Given the description of an element on the screen output the (x, y) to click on. 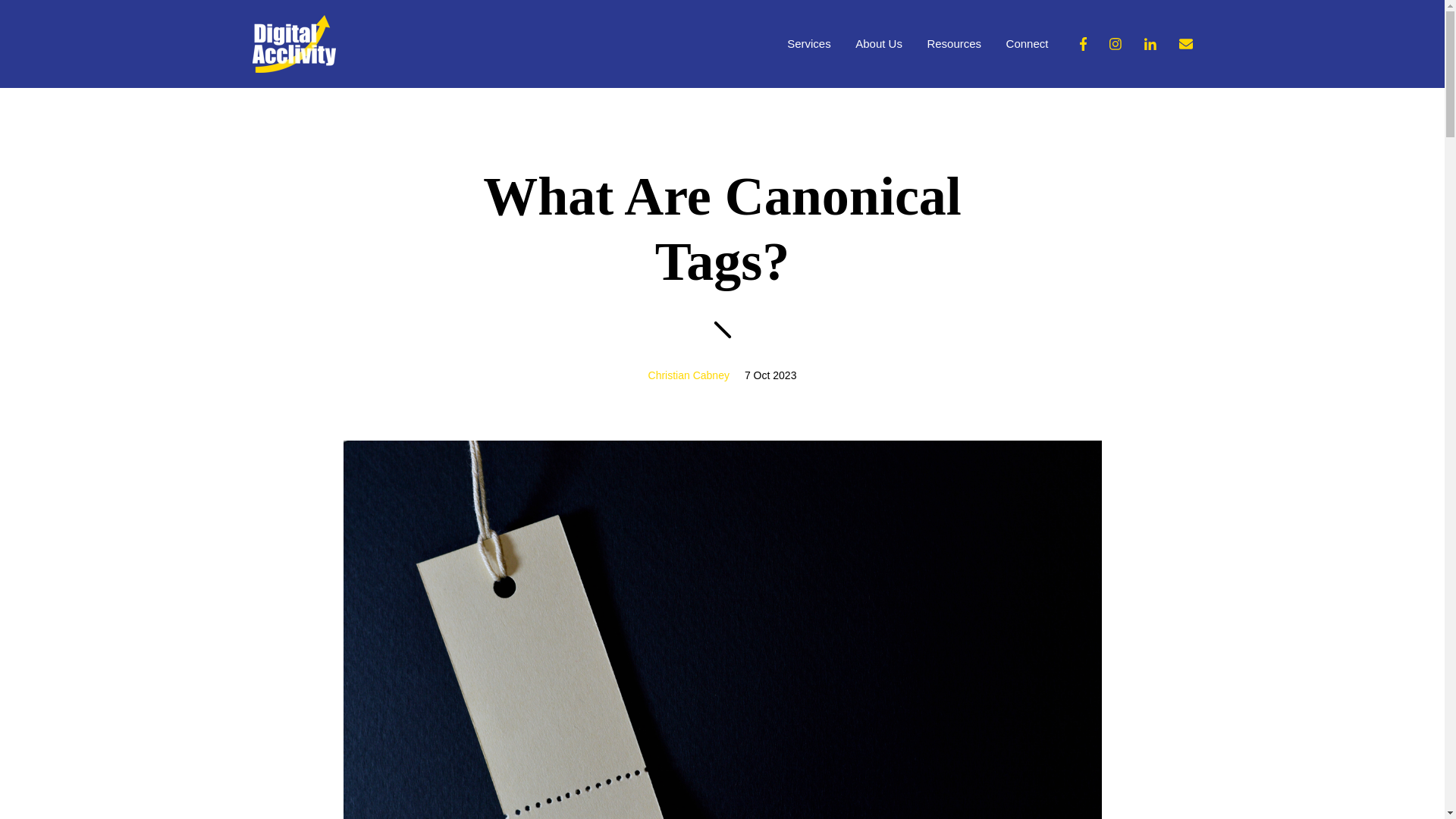
About Us (879, 44)
Connect (1027, 44)
Follow us on Facebook (1184, 43)
Follow us on Facebook (1184, 43)
Christian Cabney (688, 375)
Resources (954, 44)
Services (809, 44)
DA-white-logo-2 (292, 43)
